Given the description of an element on the screen output the (x, y) to click on. 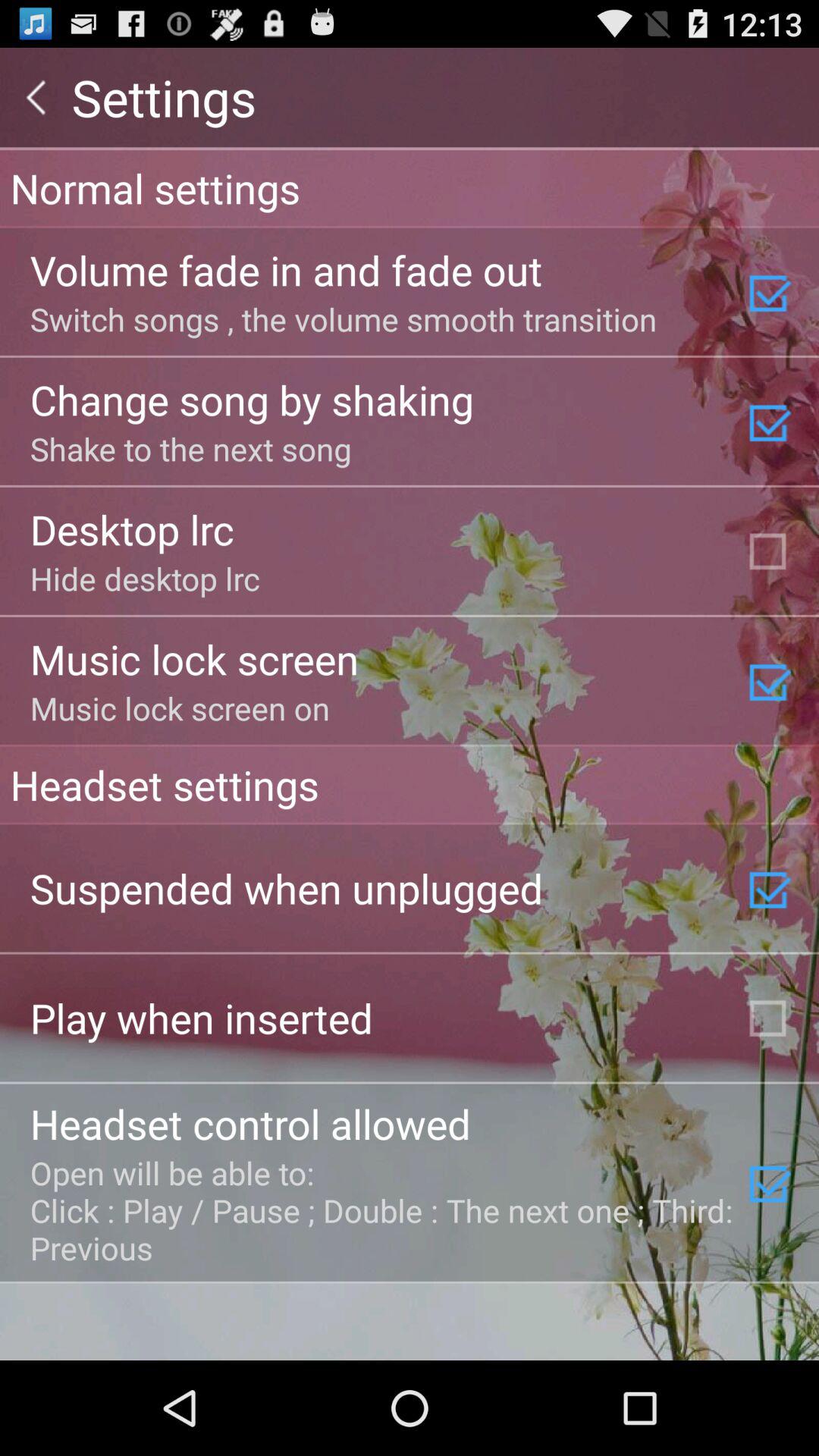
choose item below the headset settings item (286, 887)
